Given the description of an element on the screen output the (x, y) to click on. 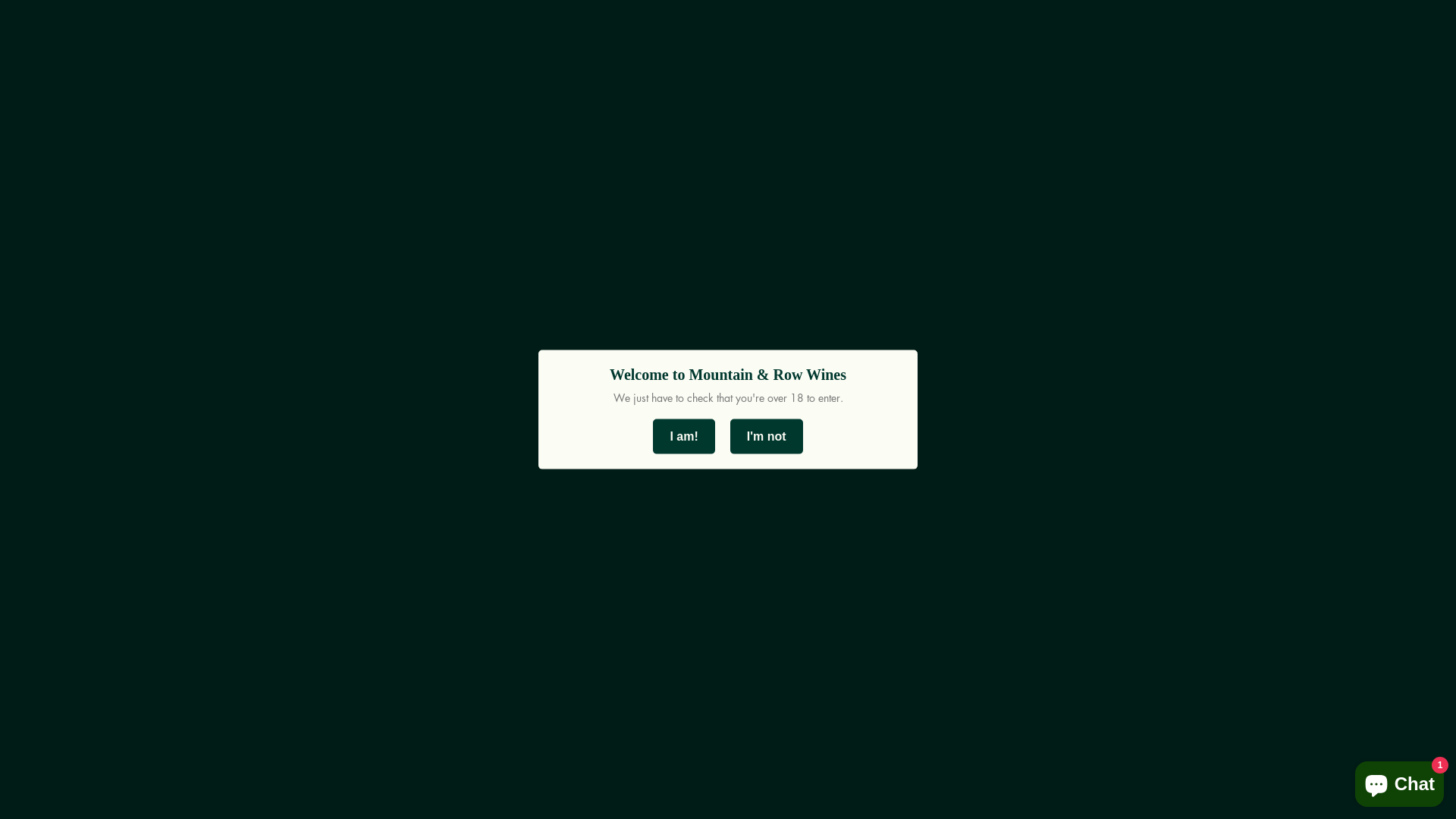
I am! Element type: text (683, 435)
Home page Element type: text (589, 409)
Privacy Policy Element type: text (77, 747)
Contact Us Element type: text (68, 665)
CURATED PACKS Element type: text (456, 236)
EVERYDAY DRINKING Element type: text (323, 236)
MAGNUMS & RARE Element type: text (651, 236)
Mountain and Row Wines Element type: hover (149, 134)
products Element type: text (780, 409)
SPIRITS Element type: text (549, 236)
Blog Element type: text (49, 788)
Terms & Conditions Element type: text (94, 727)
WINE Element type: text (57, 236)
CHIPS & OIL Element type: text (766, 236)
Shopify online store chat Element type: hover (1399, 780)
Shipping Element type: text (62, 706)
NEBBIOLO & FRIENDS Element type: text (171, 236)
About Us Element type: text (63, 686)
Sitemap Element type: text (59, 768)
SALE Element type: text (840, 236)
I'm not Element type: text (766, 435)
Search Element type: text (56, 646)
